Given the description of an element on the screen output the (x, y) to click on. 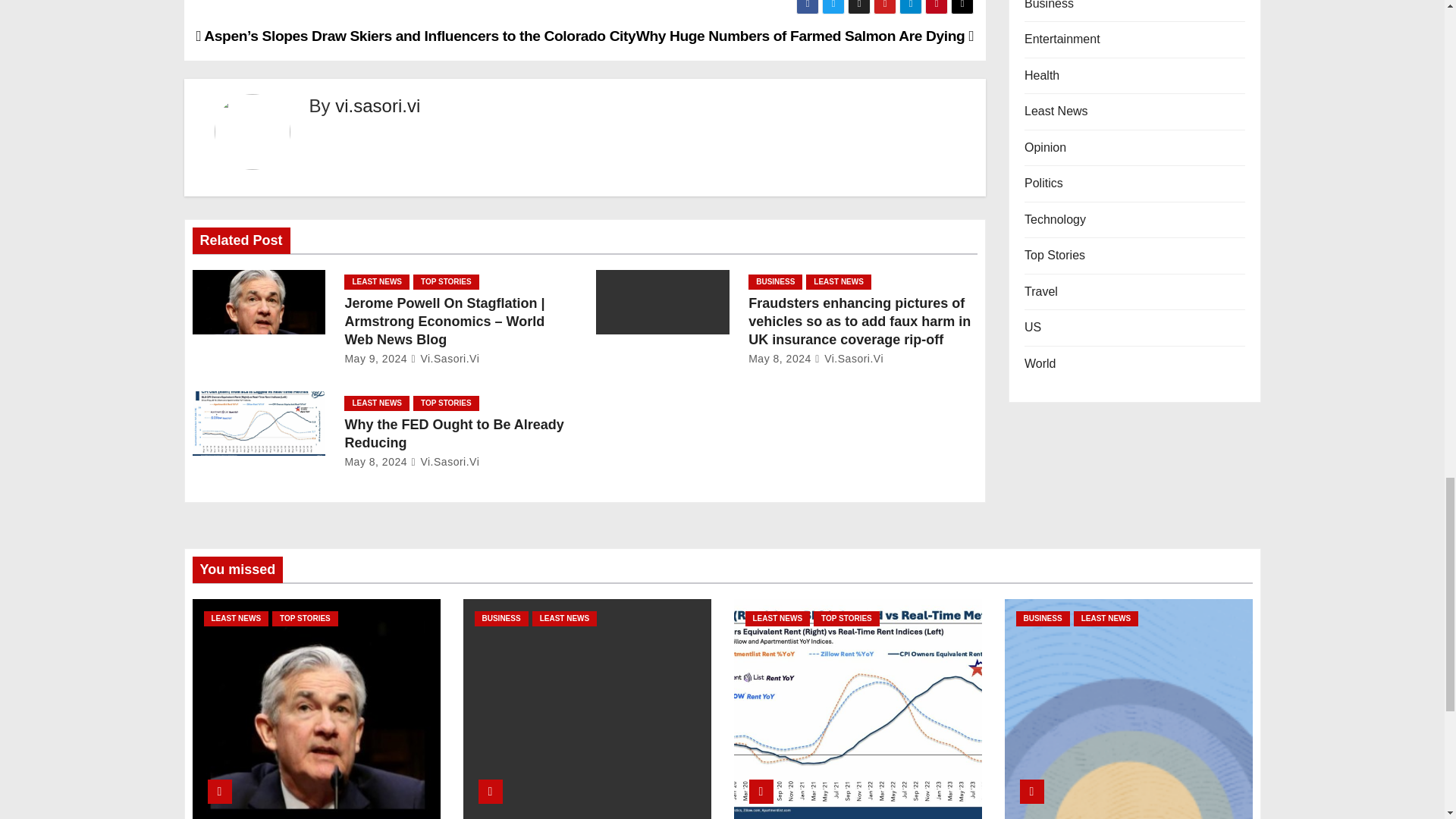
Permalink to: Why the FED Ought to Be Already Reducing (453, 433)
